Given the description of an element on the screen output the (x, y) to click on. 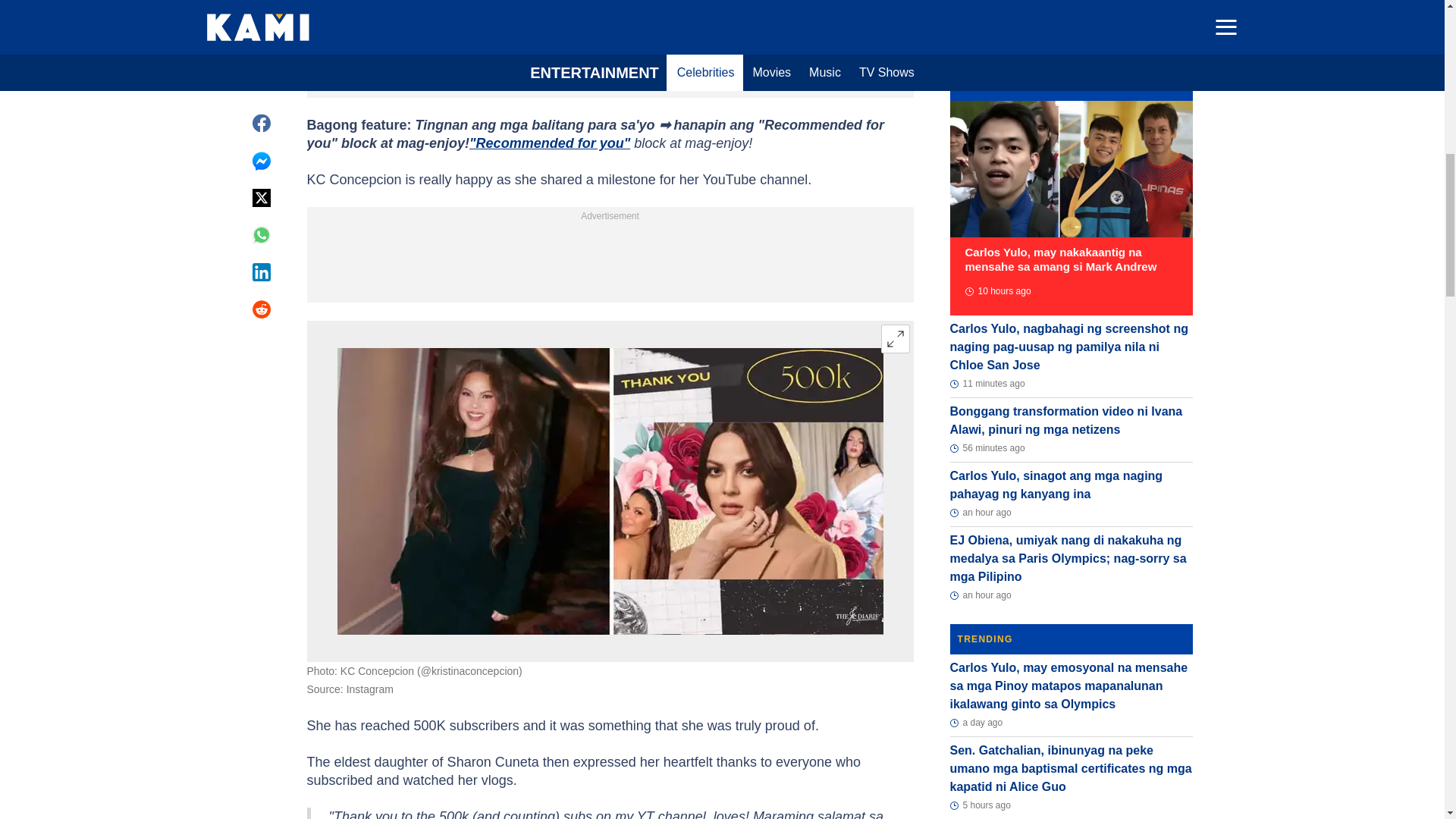
Expand image (895, 338)
